Given the description of an element on the screen output the (x, y) to click on. 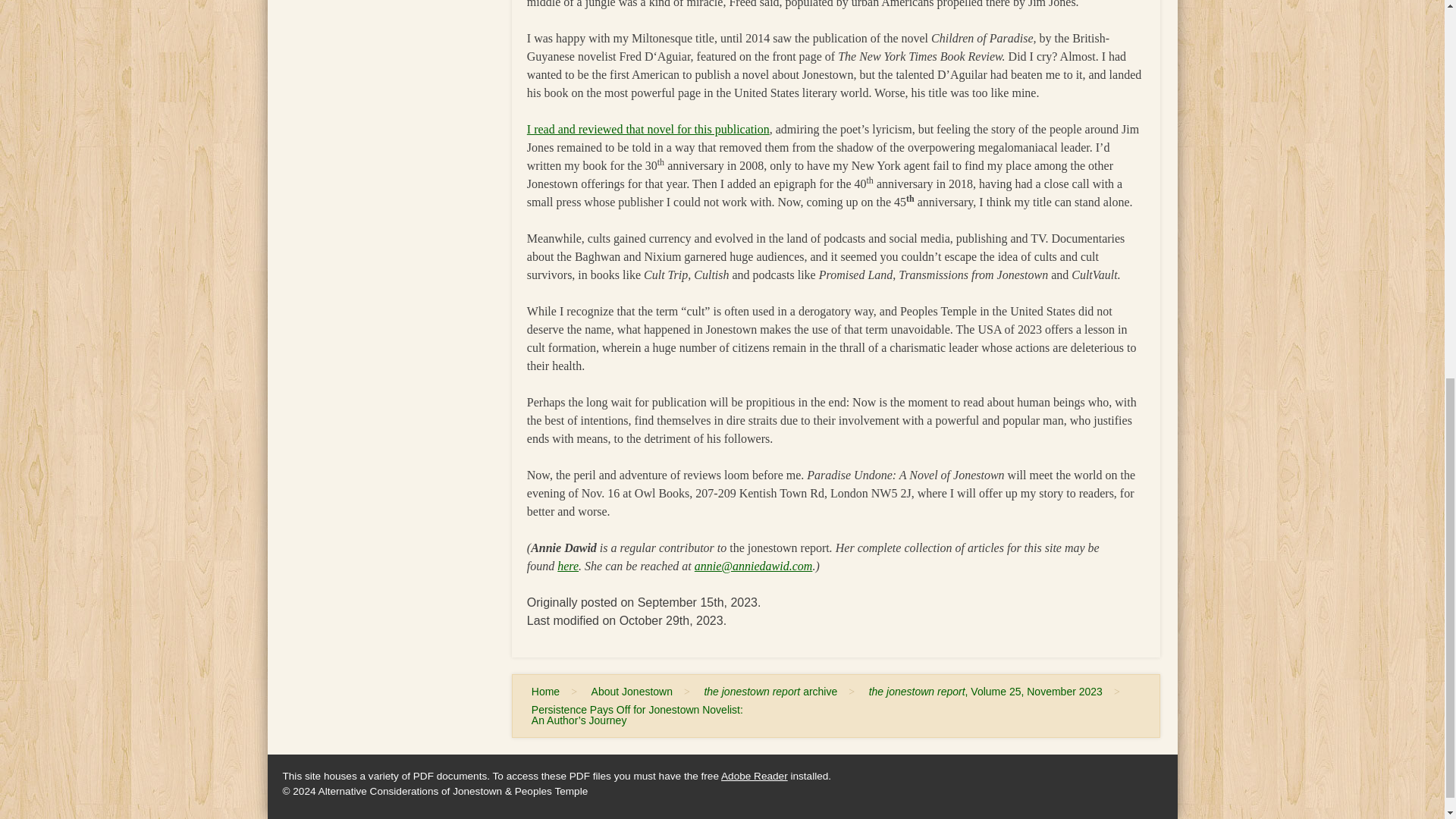
Home (545, 691)
About Jonestown (631, 691)
Home (545, 691)
About Jonestown (631, 691)
the jonestown report archive (769, 691)
the jonestown report, Volume 25, November 2023 (985, 691)
I read and reviewed that novel for this publication (648, 128)
here (567, 565)
